Given the description of an element on the screen output the (x, y) to click on. 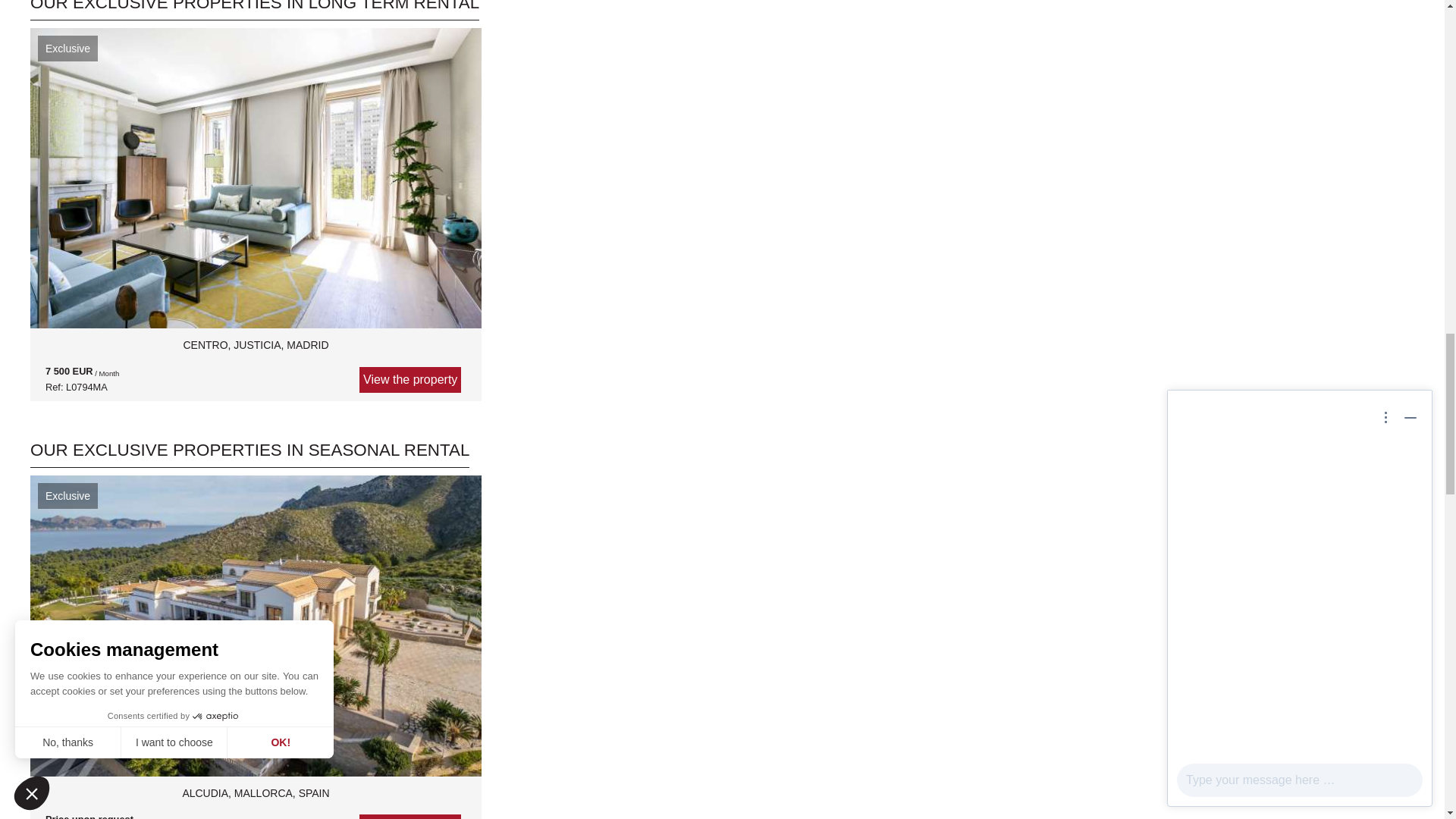
Our exclusive properties in seasonal rental (249, 454)
Rental Apartment Madrid (255, 359)
Our exclusive properties in long term rental (254, 10)
Seasonal rental Mansion Alcudia (255, 801)
